Given the description of an element on the screen output the (x, y) to click on. 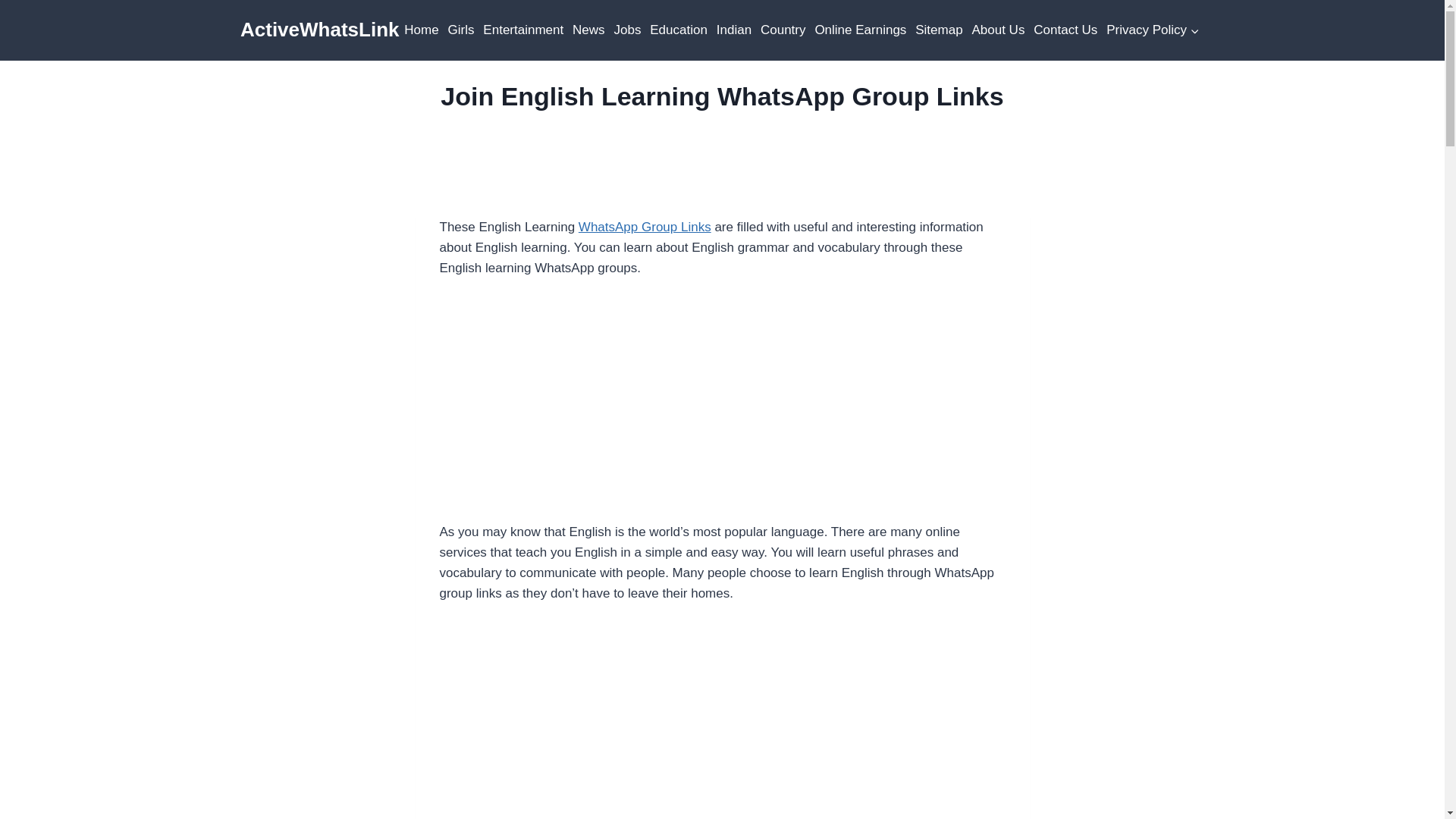
Sitemap (938, 29)
Online Earnings (860, 29)
ActiveWhatsLink (319, 29)
Contact Us (1065, 29)
Education (678, 29)
Home (420, 29)
Advertisement (722, 409)
Country (782, 29)
WhatsApp Group Links (644, 227)
Girls (461, 29)
Privacy Policy (1153, 29)
Advertisement (722, 723)
Entertainment (523, 29)
Jobs (628, 29)
News (587, 29)
